Given the description of an element on the screen output the (x, y) to click on. 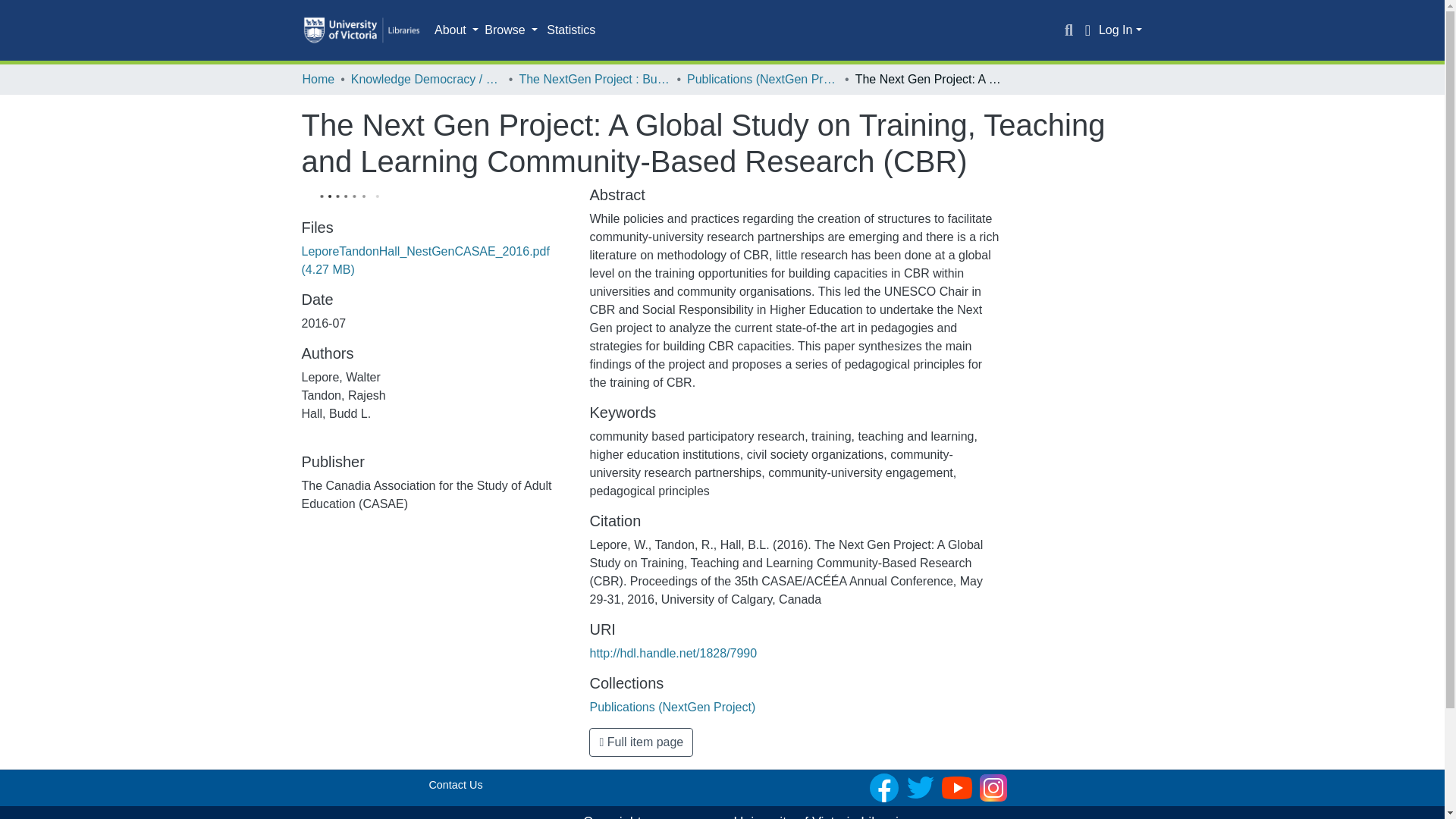
Home (317, 79)
Language switch (1087, 30)
Search (1068, 30)
Browse (510, 30)
Statistics (570, 30)
Contact Us (454, 784)
Statistics (570, 30)
Log In (1119, 29)
About (455, 30)
Full item page (641, 742)
